Given the description of an element on the screen output the (x, y) to click on. 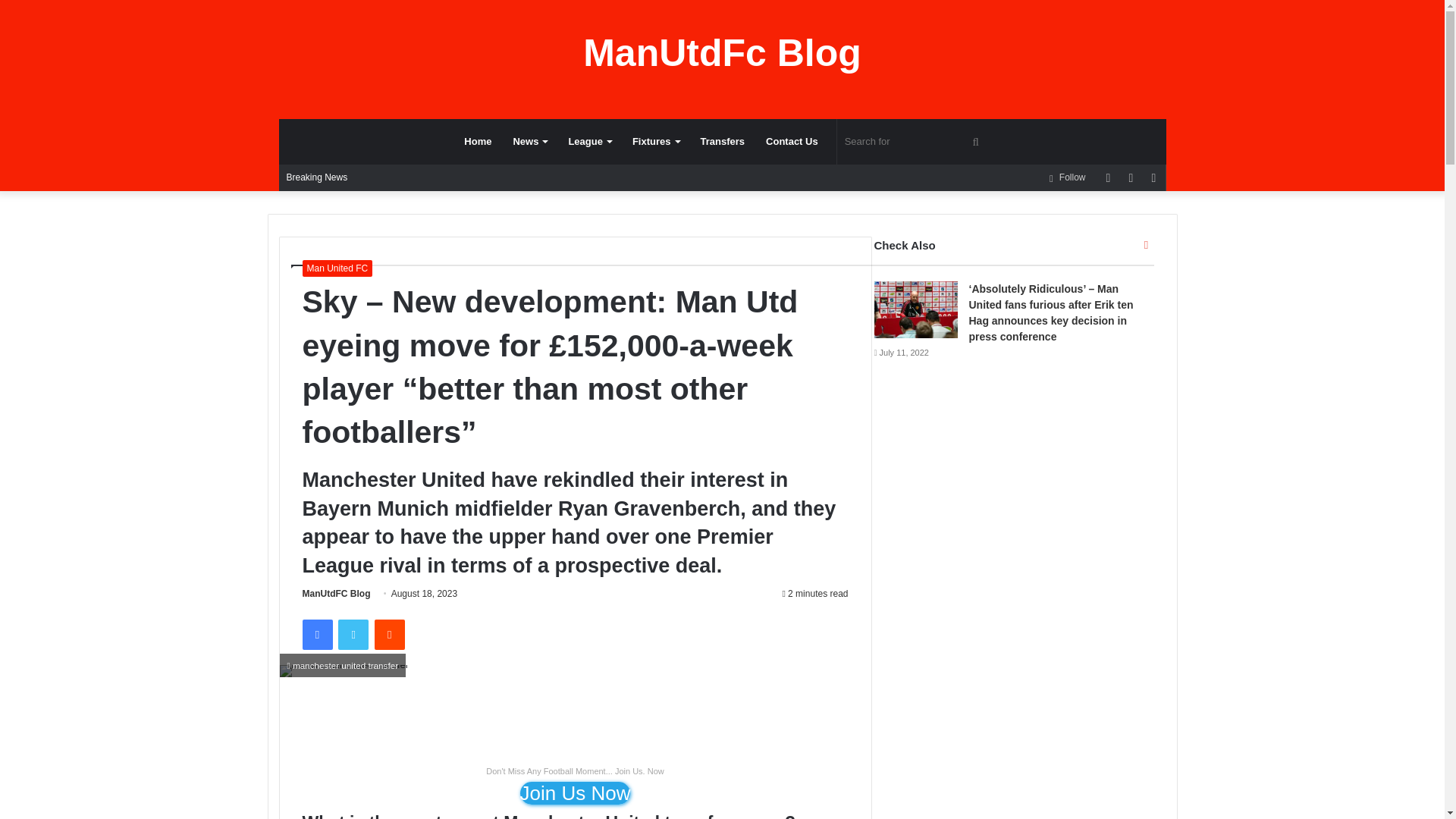
ManUtdFc Blog (722, 53)
News (529, 141)
Search for (914, 141)
Reddit (389, 634)
Fixtures (655, 141)
Transfers (722, 141)
League (589, 141)
Follow (1067, 177)
Twitter (352, 634)
Home (477, 141)
Join Us Now (574, 793)
Facebook (316, 634)
ManUtdFC Blog (335, 593)
Contact Us (791, 141)
ManUtdFc Blog (722, 53)
